Given the description of an element on the screen output the (x, y) to click on. 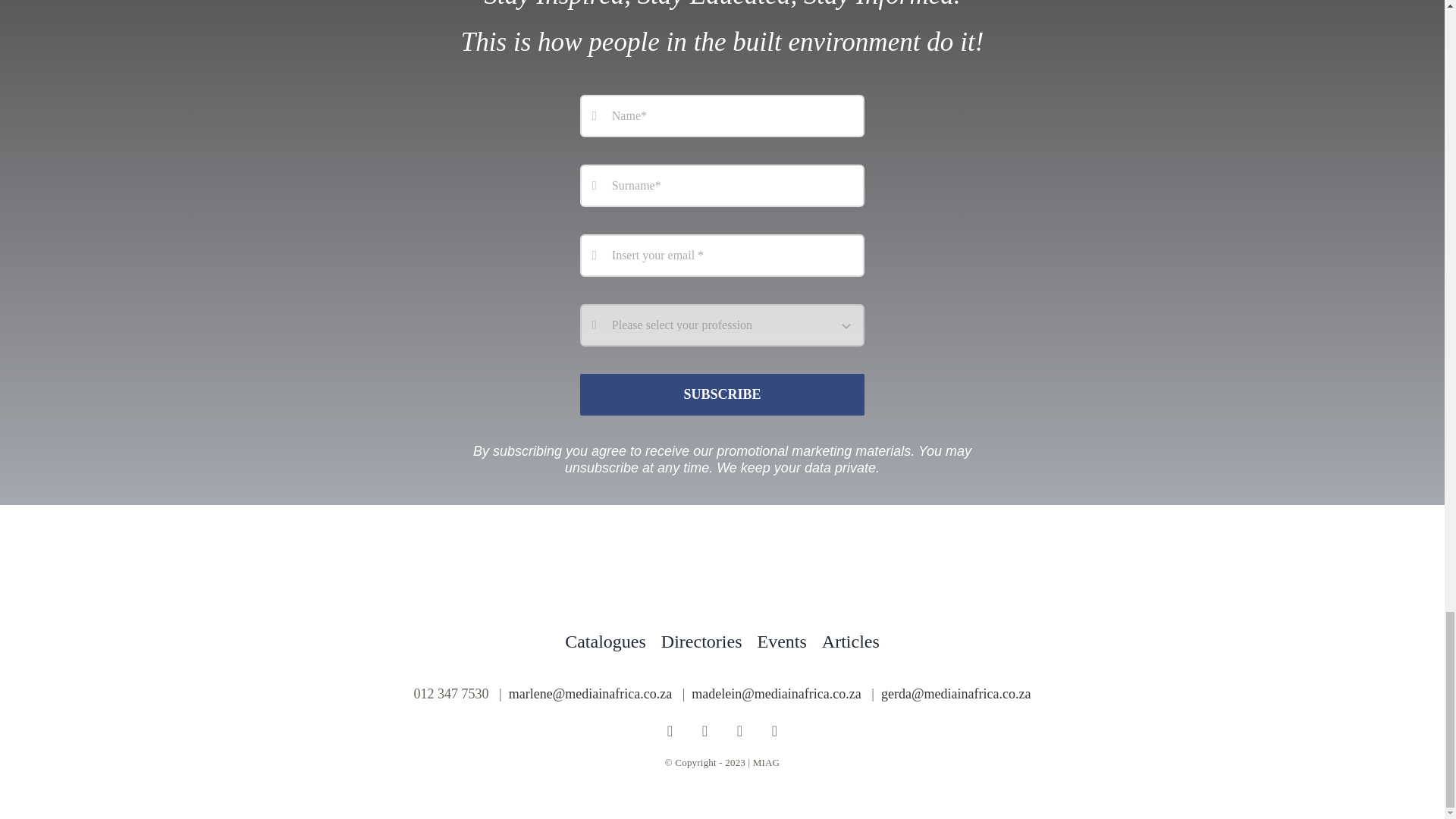
Facebook (670, 730)
LinkedIn (775, 730)
Instagram (705, 730)
BD Logo-01 (721, 574)
Twitter (740, 730)
